Given the description of an element on the screen output the (x, y) to click on. 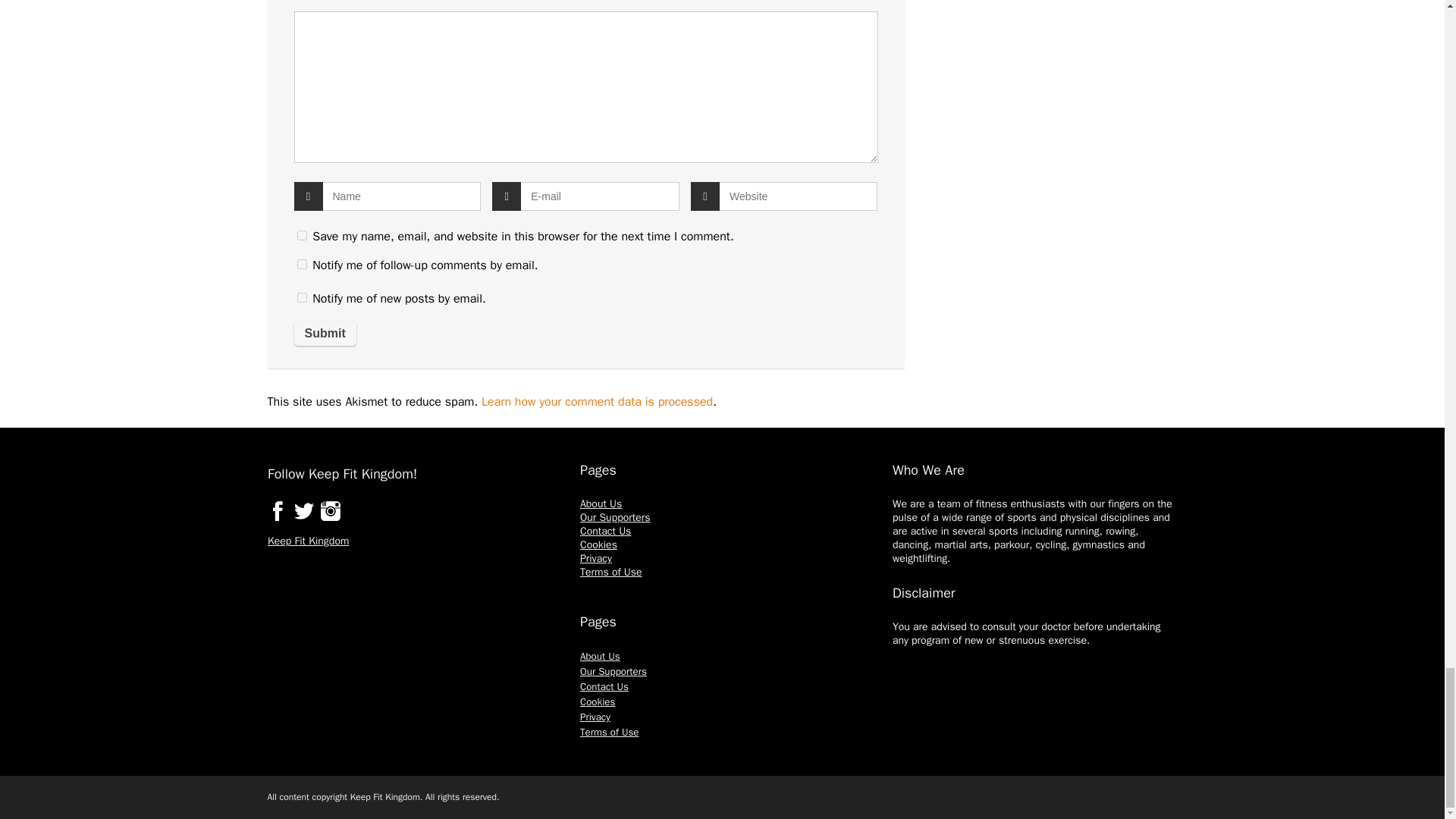
yes (302, 235)
Submit (325, 333)
subscribe (302, 297)
subscribe (302, 264)
